Given the description of an element on the screen output the (x, y) to click on. 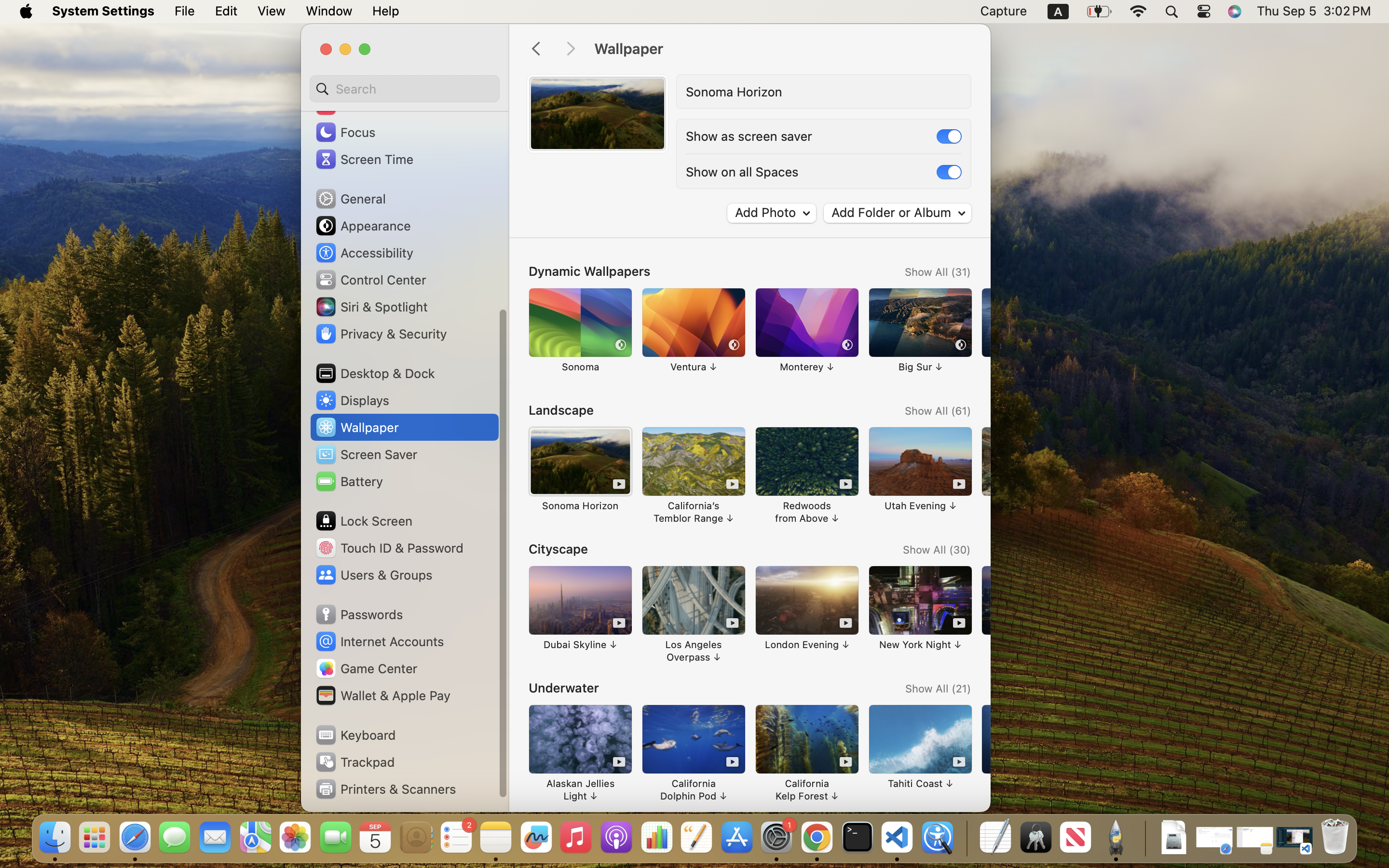
Sound Element type: AXStaticText (346, 104)
Underwater Element type: AXStaticText (563, 687)
Control Center Element type: AXStaticText (370, 279)
